Given the description of an element on the screen output the (x, y) to click on. 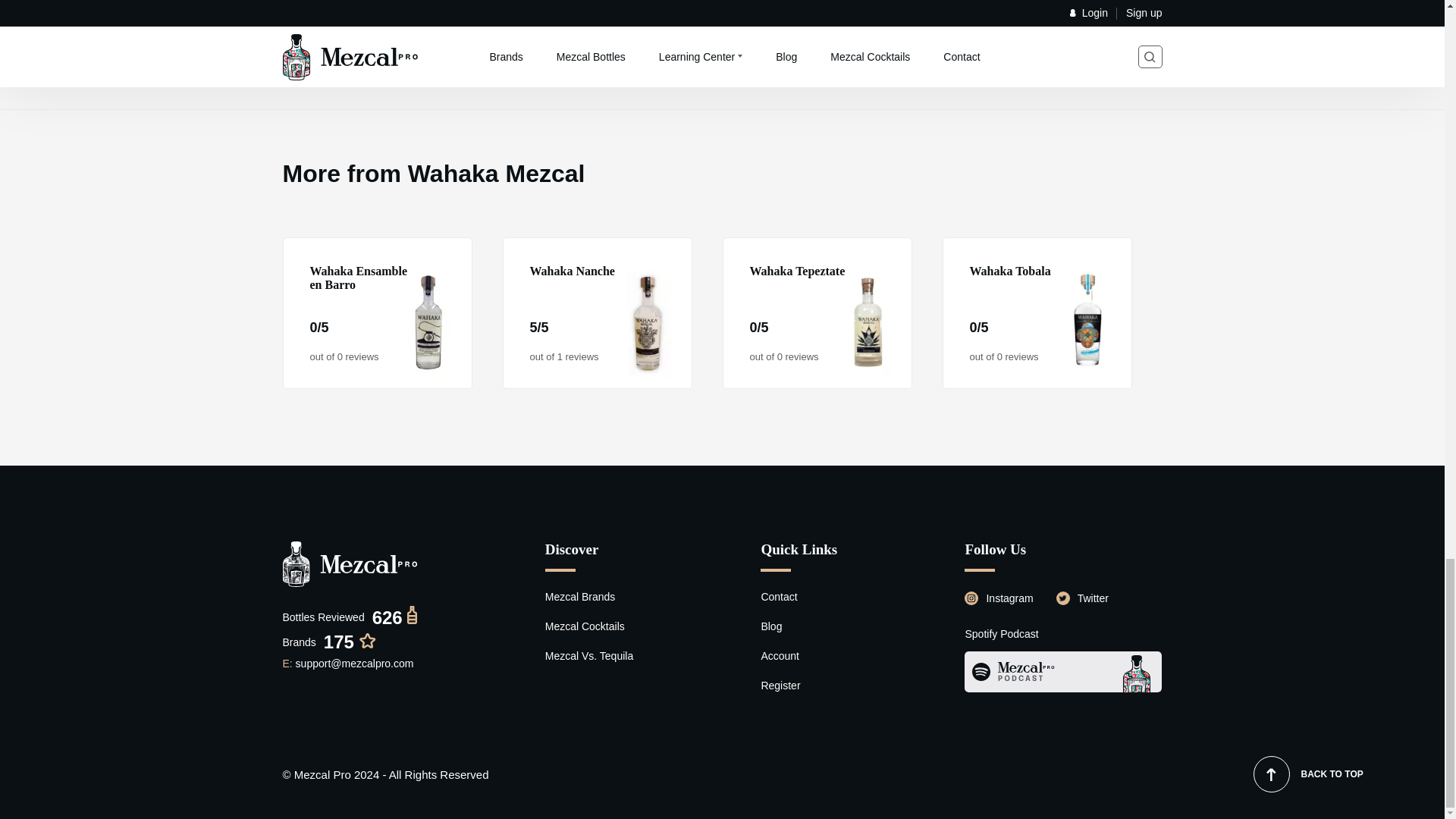
Sign Up to Add Review (559, 16)
